Given the description of an element on the screen output the (x, y) to click on. 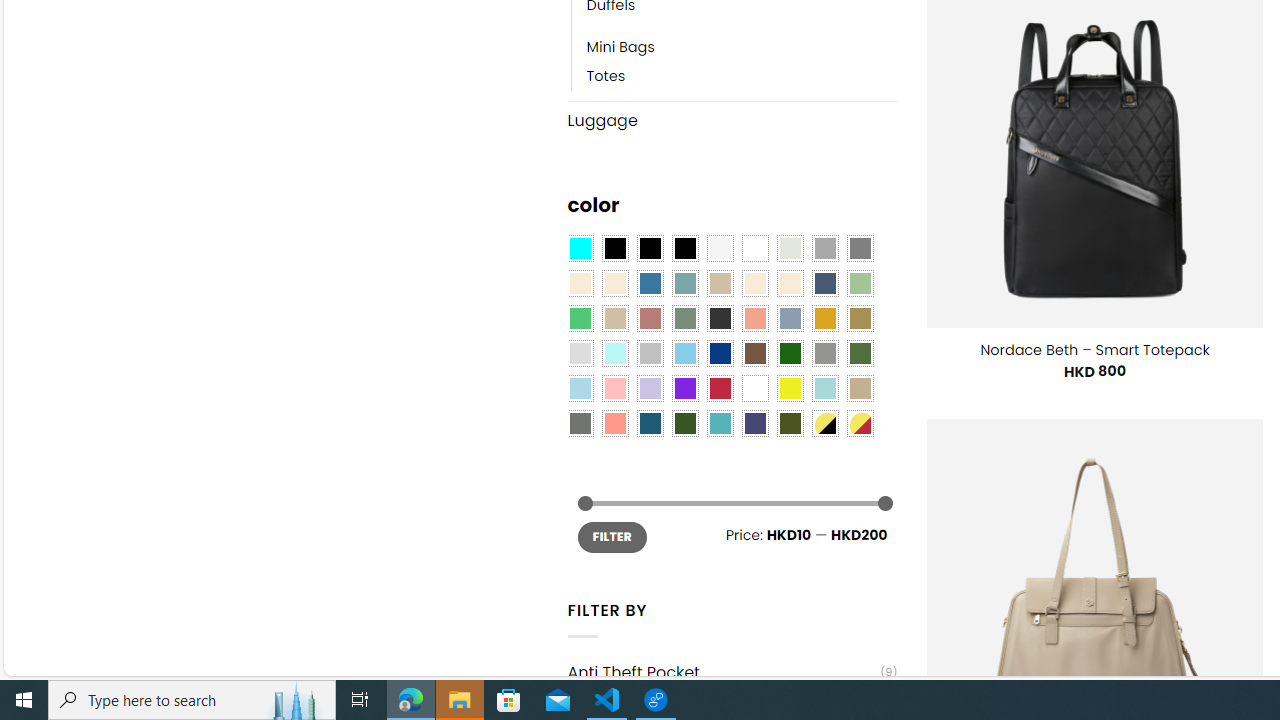
Pink (614, 388)
Capri Blue (650, 424)
Beige (579, 283)
Beige-Brown (614, 283)
Light Purple (650, 388)
Cream (789, 283)
White (755, 388)
Dark Gray (824, 249)
Dusty Blue (789, 318)
Army Green (789, 424)
Dark Green (789, 354)
Aqua Blue (579, 249)
Sage (684, 318)
Navy Blue (719, 354)
Totes (742, 76)
